Given the description of an element on the screen output the (x, y) to click on. 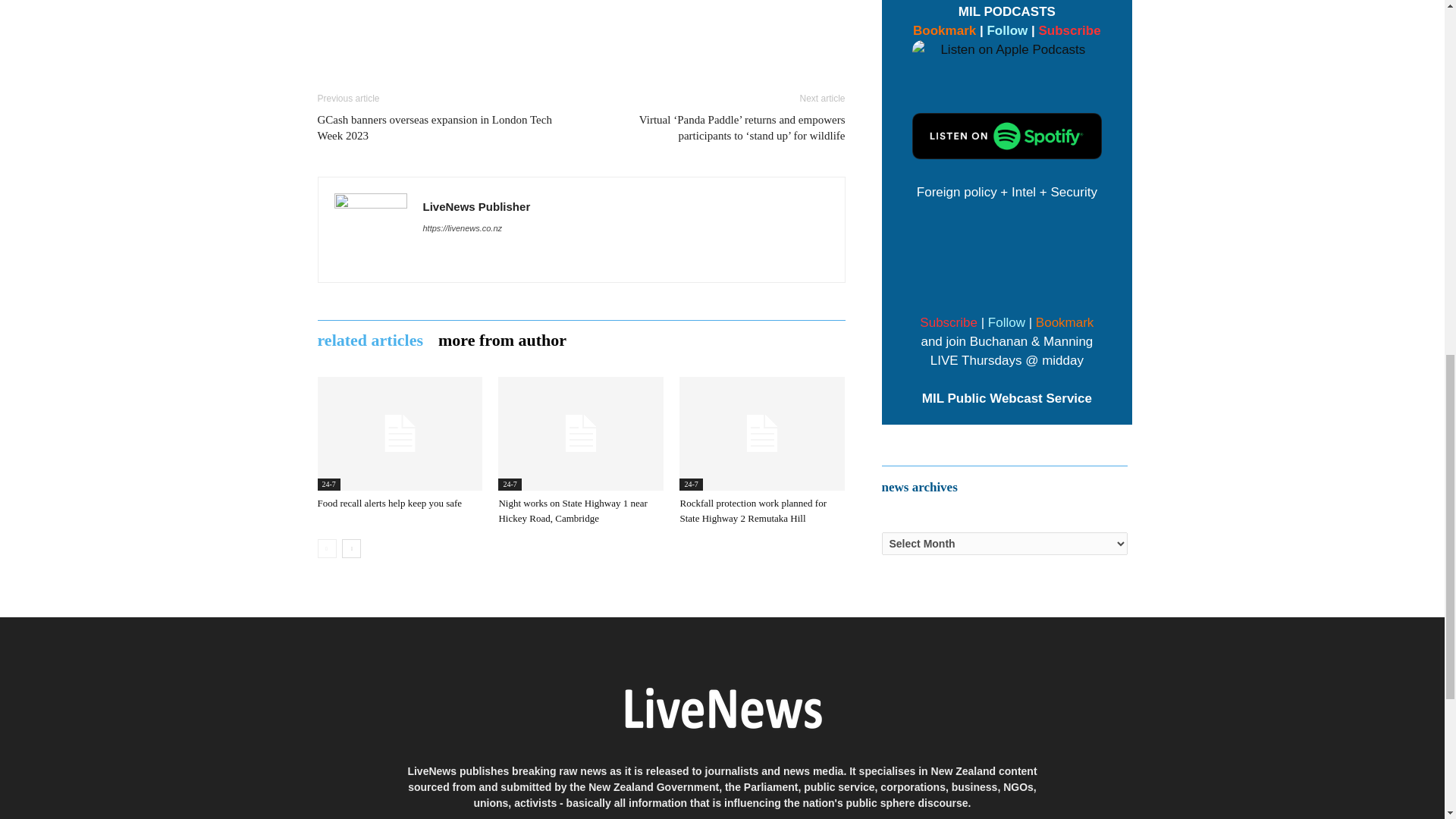
3rd party ad content (438, 33)
Food recall alerts help keep you safe (389, 502)
Food recall alerts help keep you safe (399, 433)
Night works on State Highway 1 near Hickey Road, Cambridge (580, 433)
YouTube video player (1007, 254)
Night works on State Highway 1 near Hickey Road, Cambridge (571, 510)
